Given the description of an element on the screen output the (x, y) to click on. 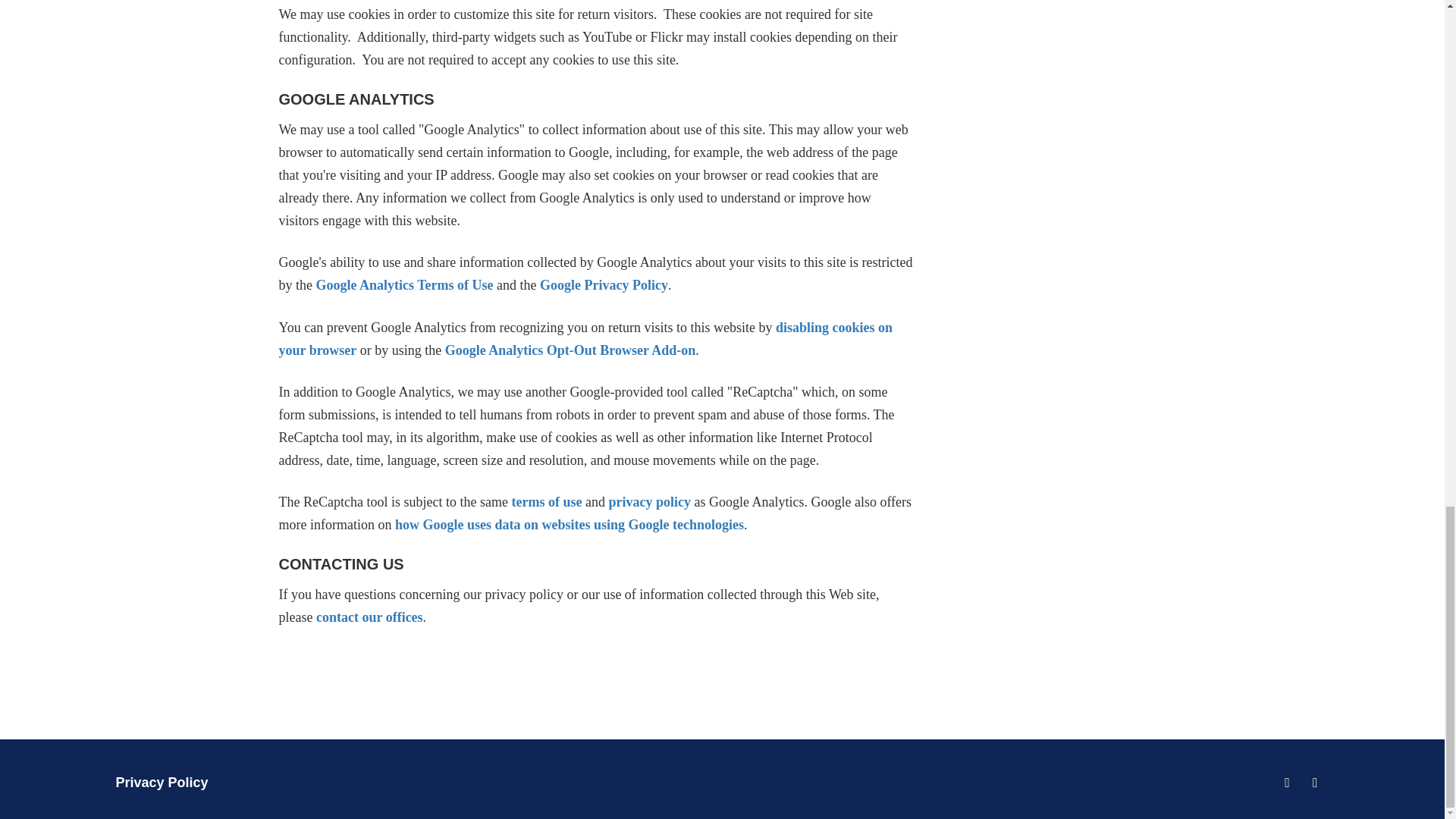
Contact (369, 616)
